Given the description of an element on the screen output the (x, y) to click on. 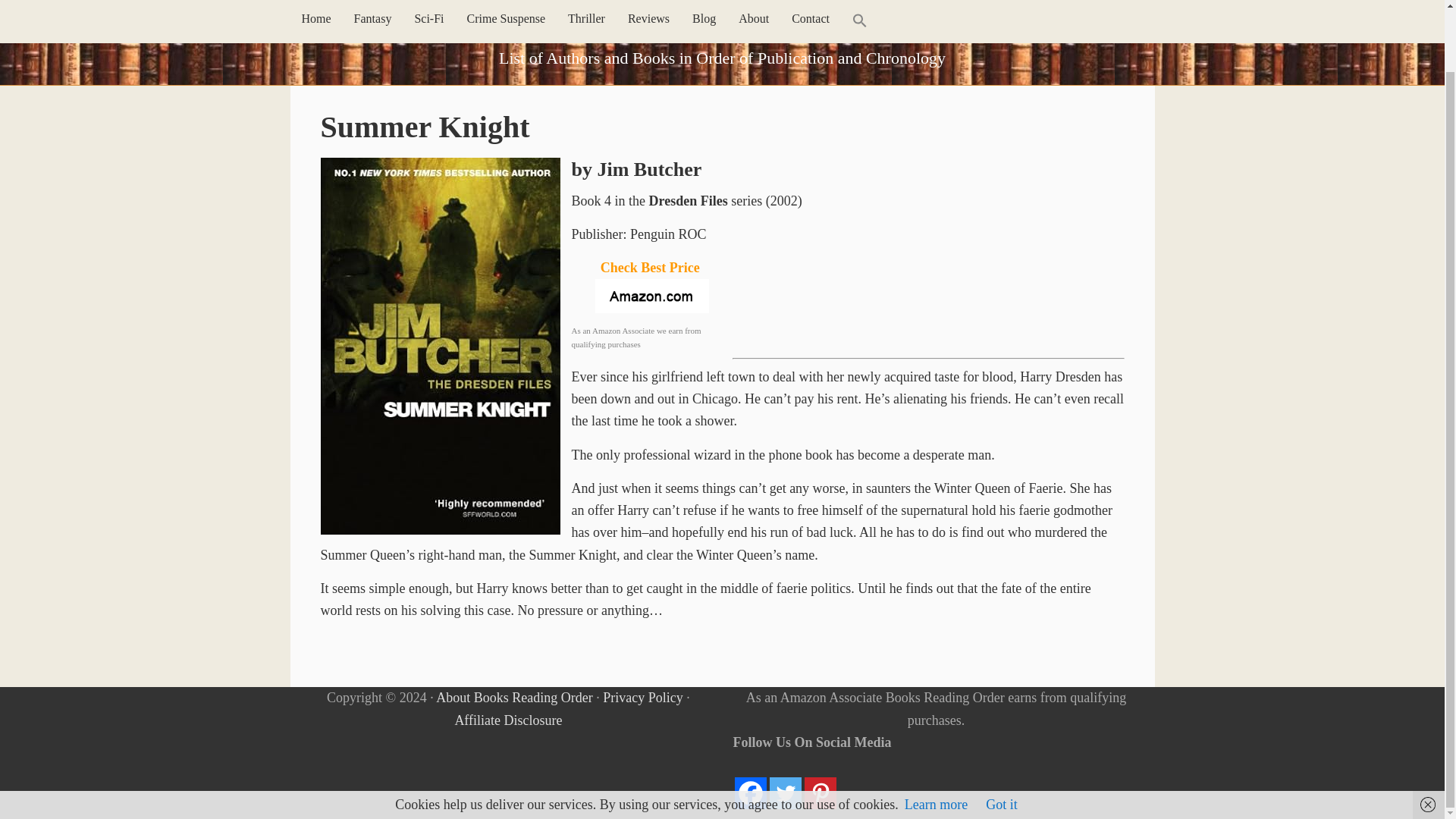
Facebook (751, 793)
Jim Butcher (648, 169)
Affiliate Disclosure (508, 719)
Got it (1001, 736)
About Books Reading Order (513, 697)
Pinterest (820, 793)
Privacy Policy (642, 697)
Books Reading Order (721, 19)
Learn more (936, 736)
Twitter (786, 793)
